Given the description of an element on the screen output the (x, y) to click on. 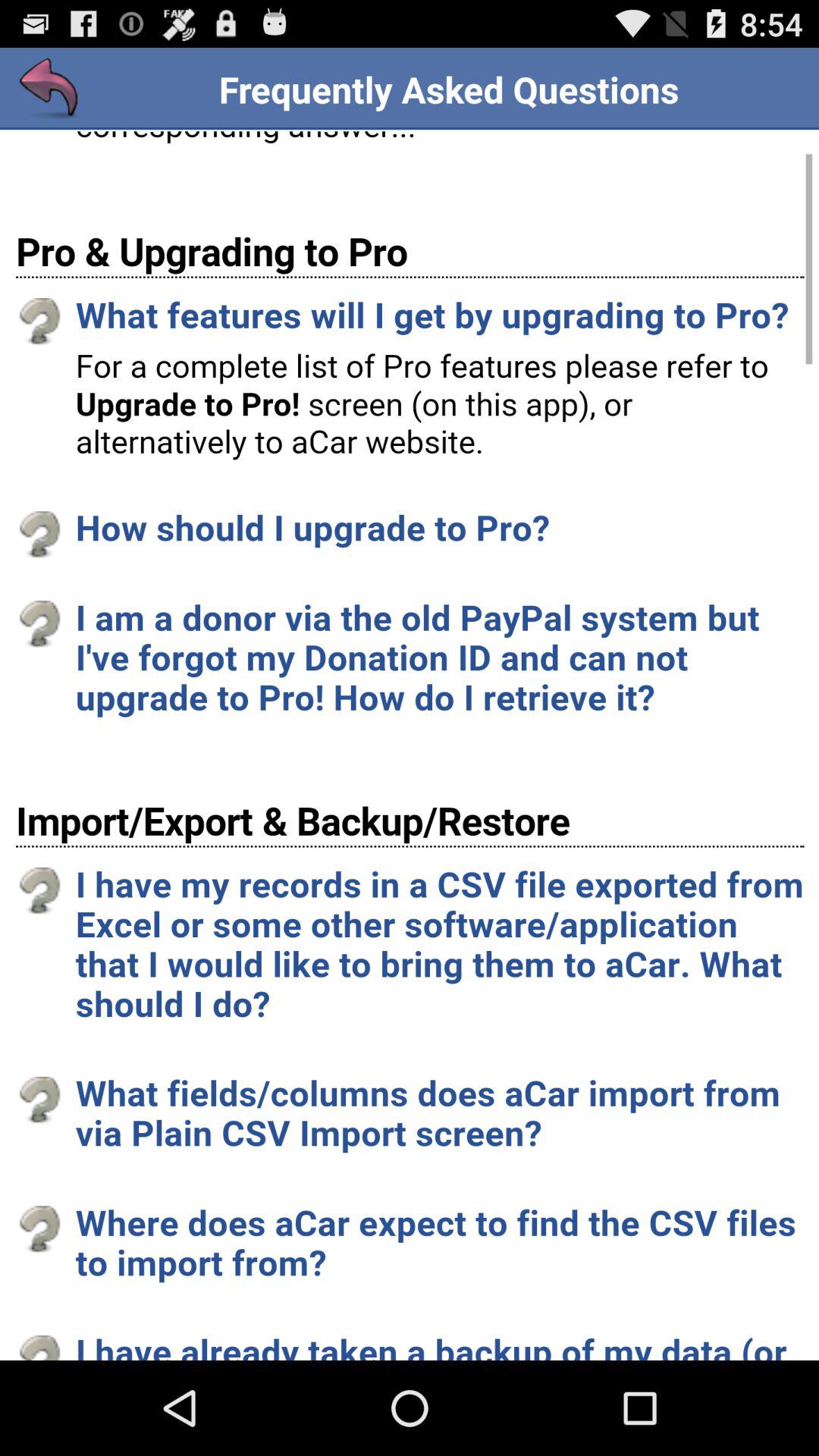
back button (49, 89)
